Given the description of an element on the screen output the (x, y) to click on. 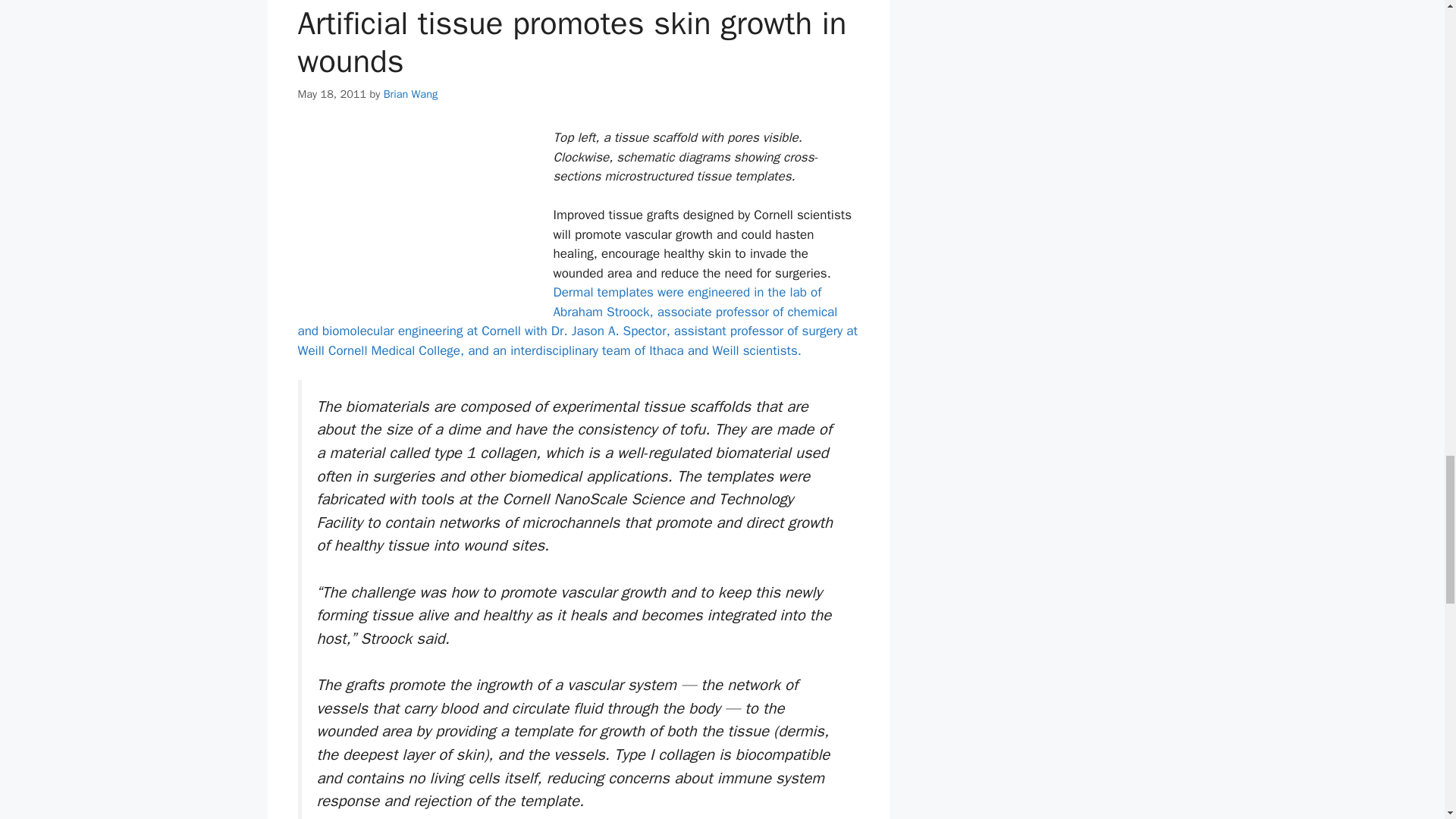
View all posts by Brian Wang (411, 93)
Brian Wang (411, 93)
